Given the description of an element on the screen output the (x, y) to click on. 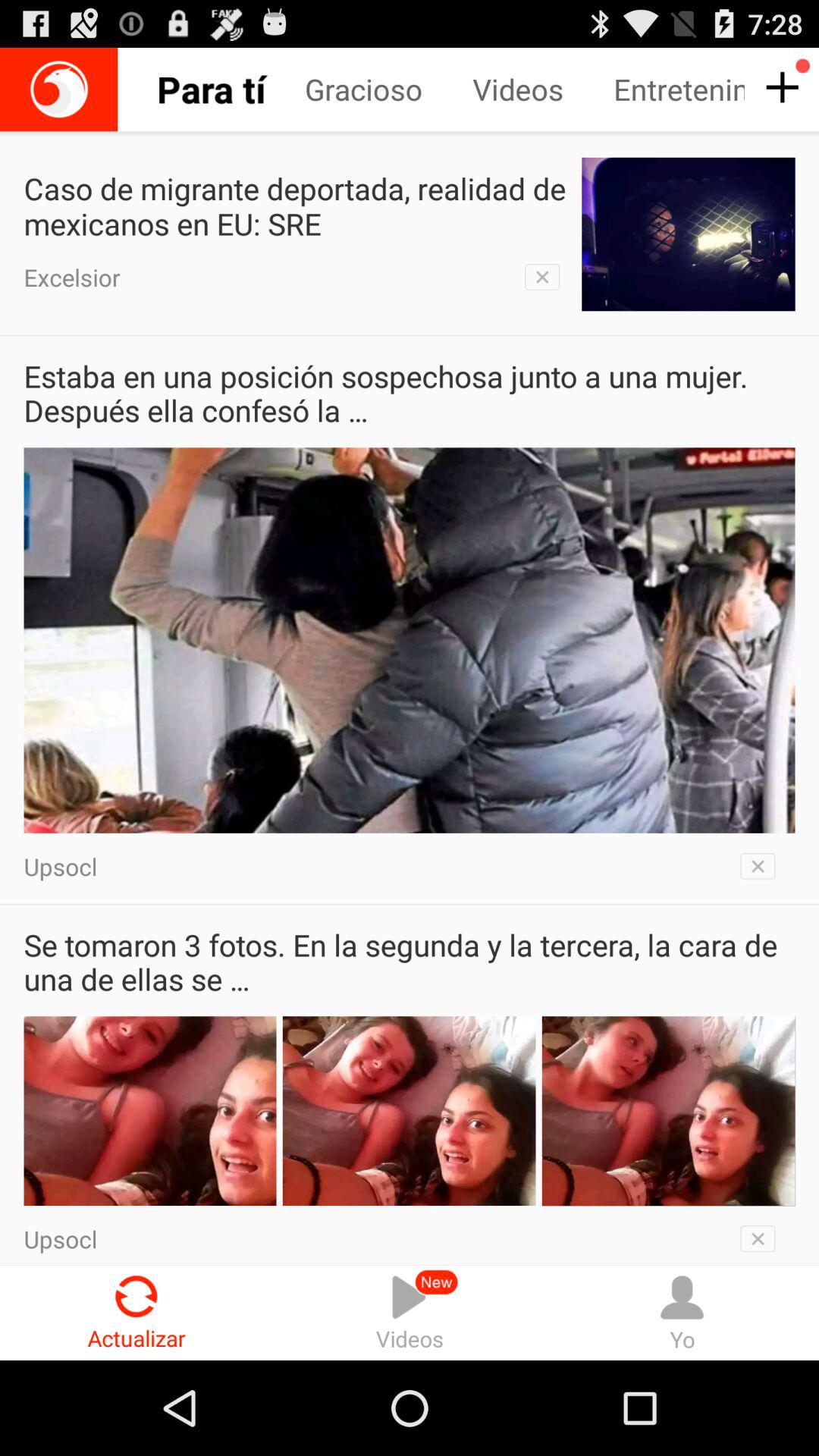
launch the item to the left of the videos app (388, 89)
